Given the description of an element on the screen output the (x, y) to click on. 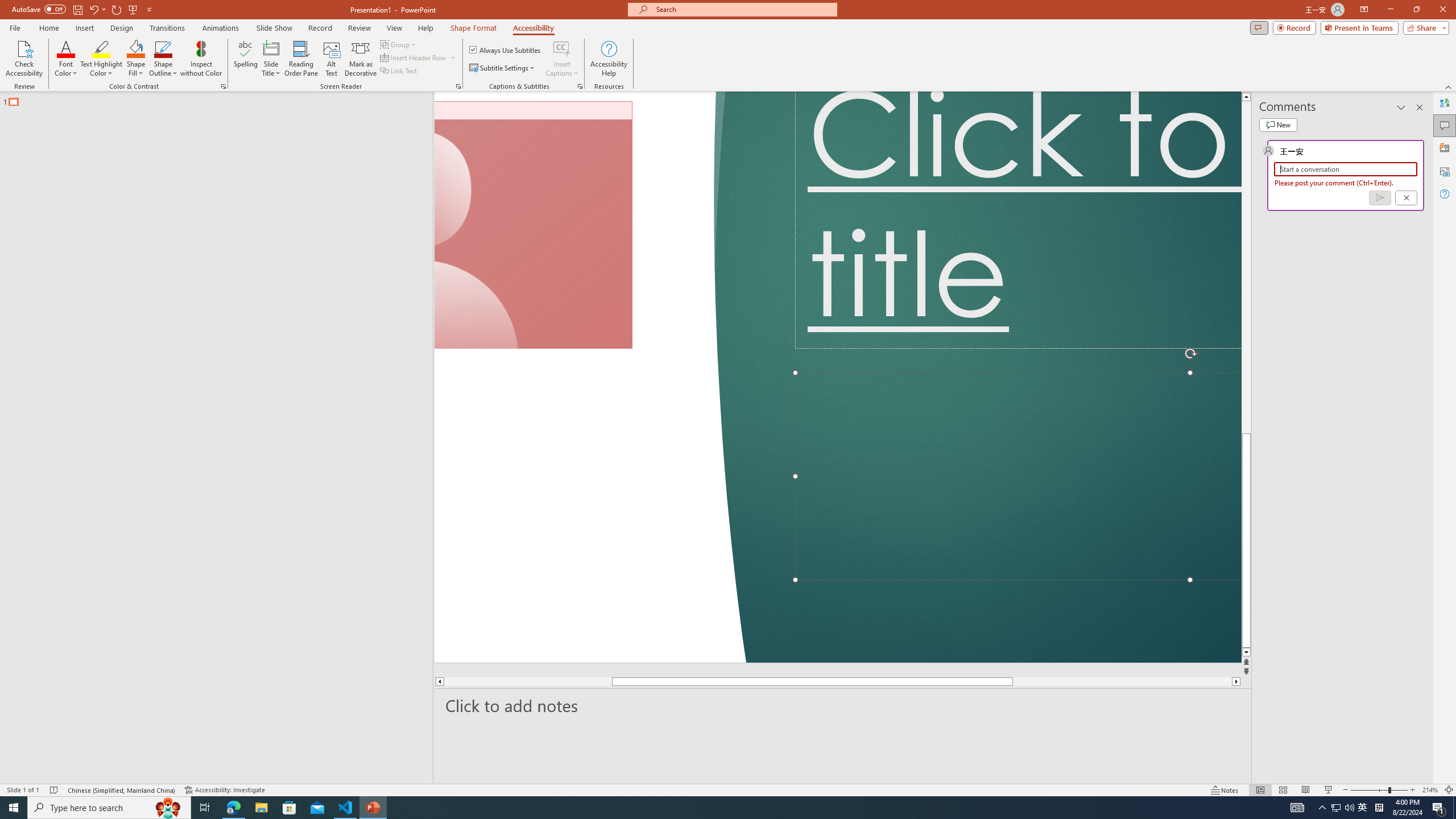
Font... (383, 128)
Shrink Font (266, 77)
Subscript (199, 102)
Align Right (452, 102)
Paste (34, 92)
Print Layout (1254, 773)
Mode (1345, 48)
Save (136, 18)
Numbering (442, 77)
Home (72, 47)
Styles (1025, 107)
Change Case (297, 77)
Font Color (323, 102)
